Given the description of an element on the screen output the (x, y) to click on. 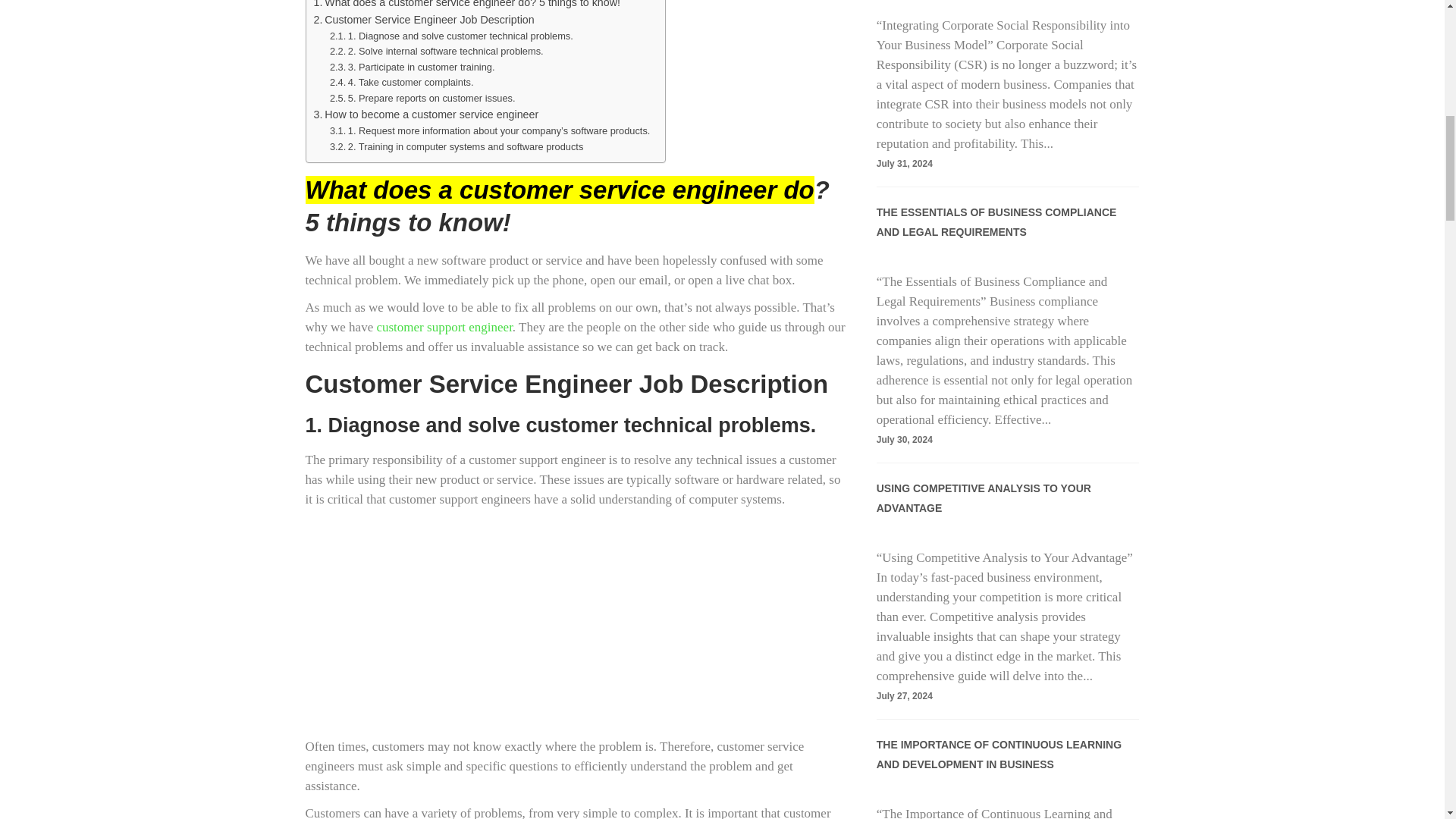
2. Training in computer systems and software products (456, 147)
4. Take customer complaints. (402, 82)
2. Solve internal software technical problems. (436, 51)
1. Diagnose and solve customer technical problems. (451, 36)
How to become a customer service engineer (426, 114)
3. Participate in customer training. (412, 67)
Customer Service Engineer Job Description (424, 19)
What does a customer service engineer do? 5 things to know! (467, 5)
5. Prepare reports on customer issues. (422, 98)
